Given the description of an element on the screen output the (x, y) to click on. 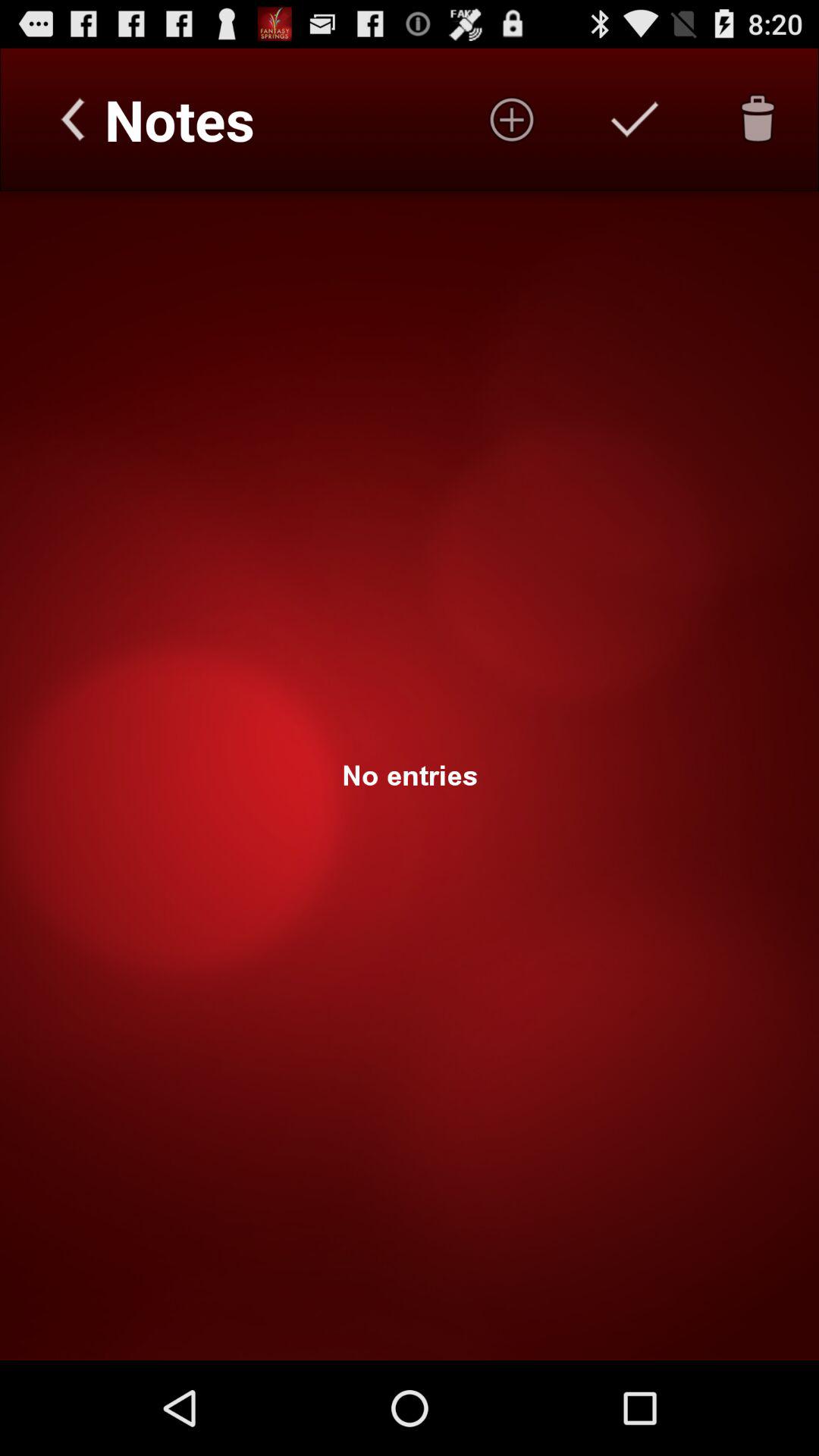
save (634, 119)
